Given the description of an element on the screen output the (x, y) to click on. 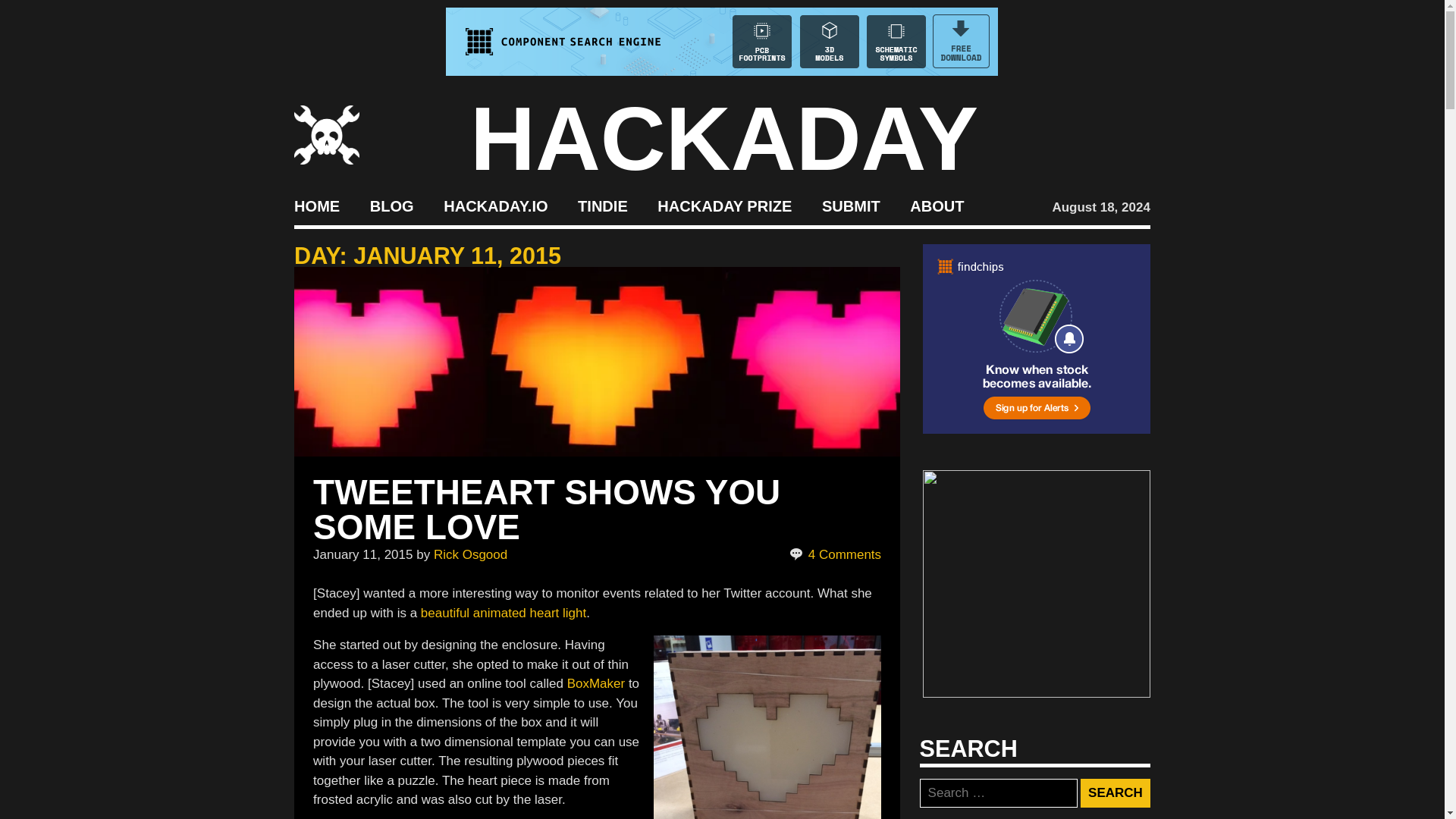
HACKADAY PRIZE (725, 205)
beautiful animated heart light (503, 612)
TINDIE (602, 205)
January 11, 2015 (362, 554)
BLOG (391, 205)
January 11, 2015 - 10:01 pm (362, 554)
HACKADAY (724, 138)
Posts by Rick Osgood (469, 554)
HOME (316, 205)
TweetHeart (503, 612)
